Given the description of an element on the screen output the (x, y) to click on. 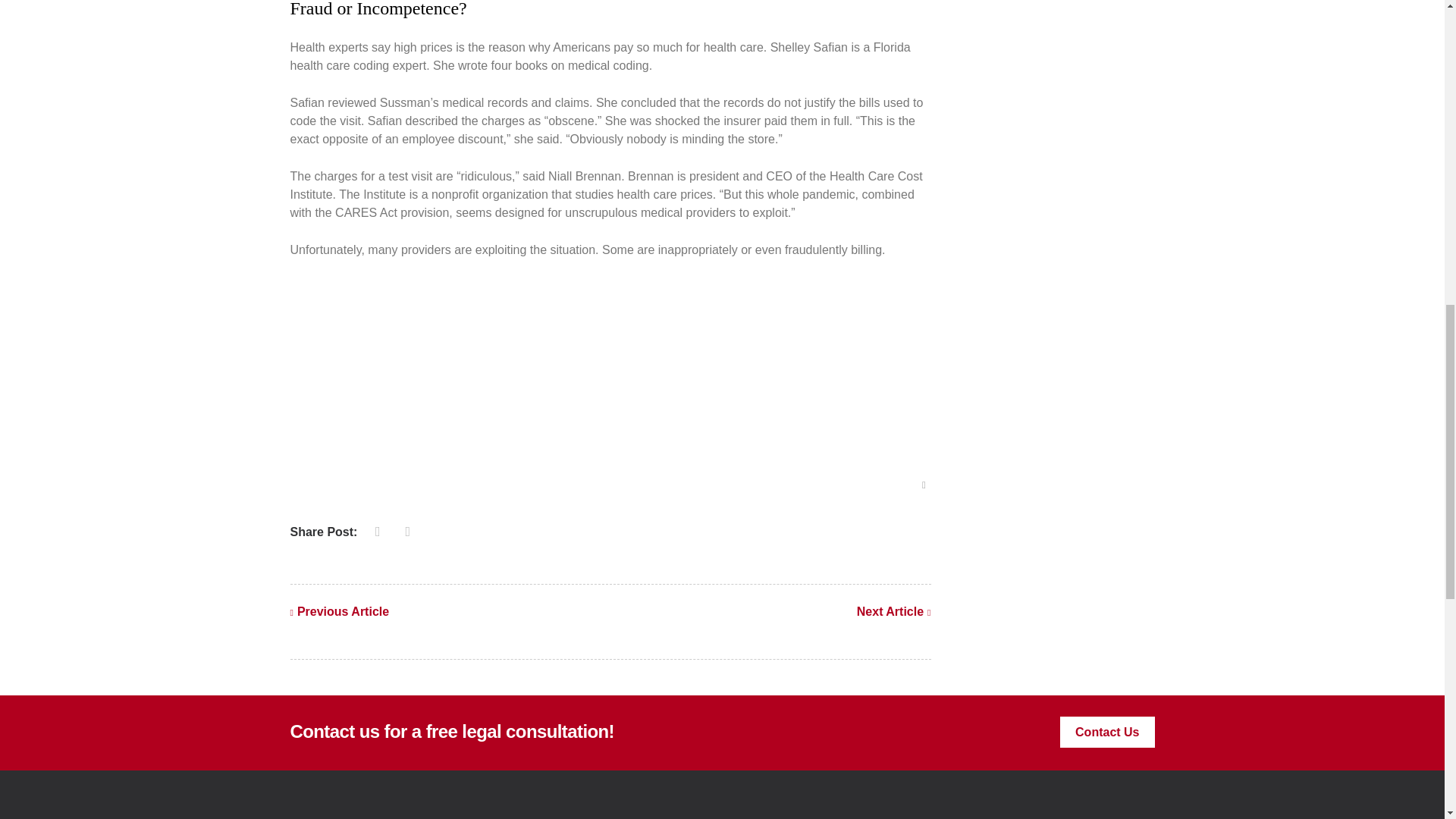
Previous Article (338, 612)
Contact Us (1106, 731)
Next Article (894, 612)
